Given the description of an element on the screen output the (x, y) to click on. 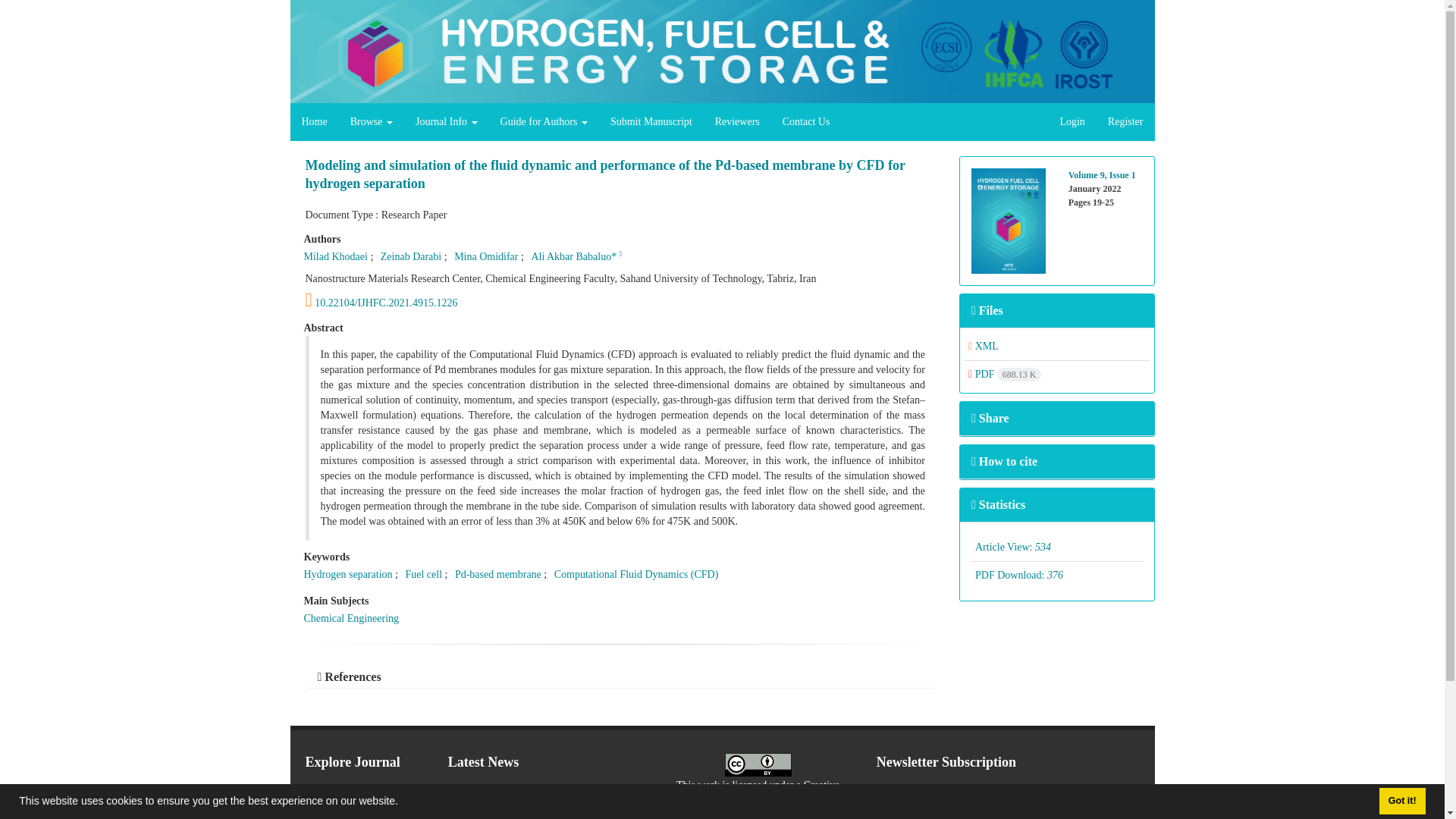
Home (313, 121)
Register (1125, 121)
Login (1072, 121)
Guide for Authors (543, 121)
Journal Info (446, 121)
DOI (620, 300)
Reviewers (737, 121)
Zeinab Darabi (410, 256)
Mina Omidifar (486, 256)
Milad Khodaei (334, 256)
Submit Manuscript (650, 121)
Got it! (1401, 800)
Contact Us (806, 121)
Hydrogen separation (346, 573)
